Given the description of an element on the screen output the (x, y) to click on. 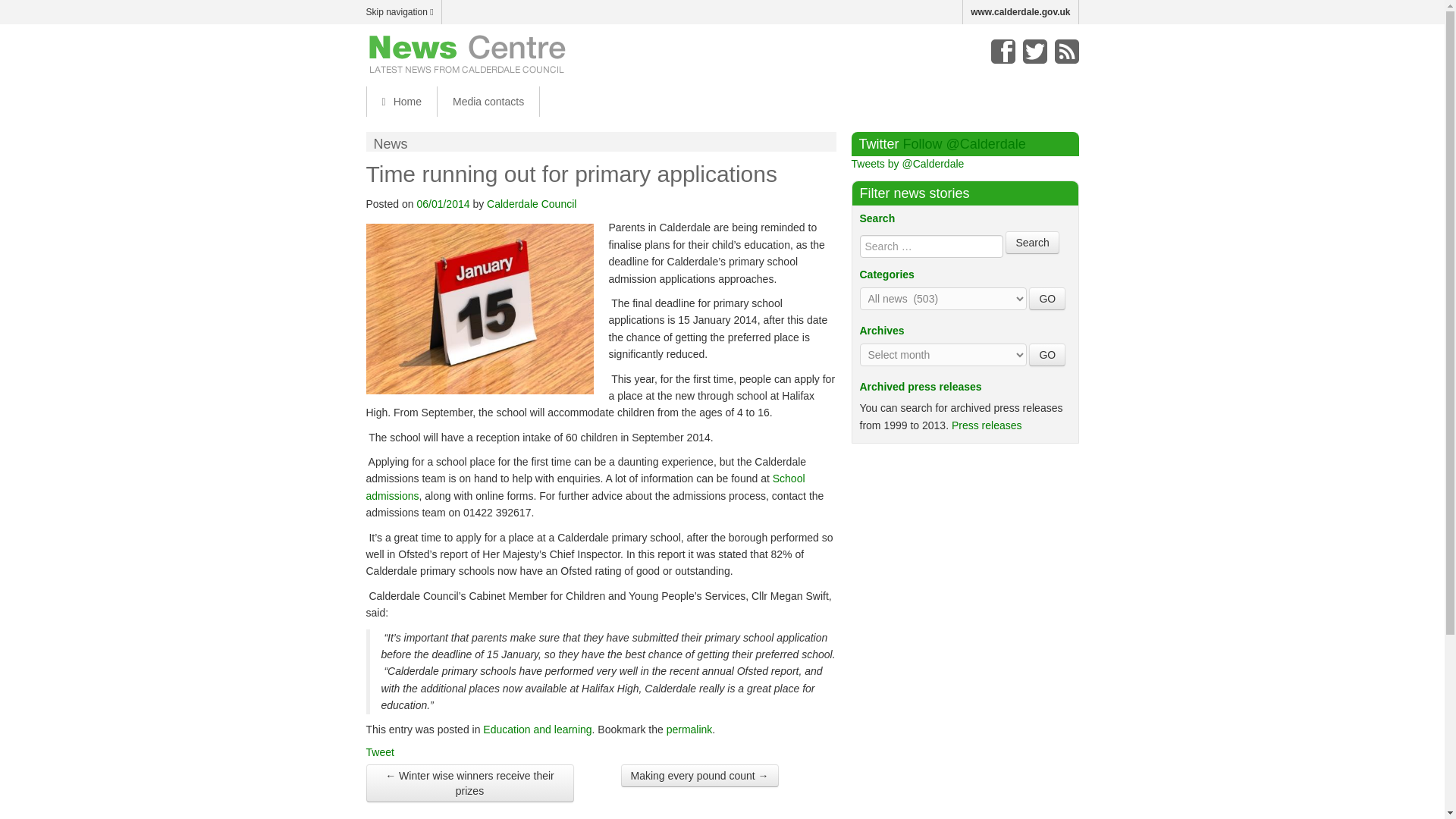
Media contacts (489, 101)
Calderdale Council (531, 203)
RSS (1066, 51)
School admissions (585, 486)
Permalink to Time running out for primary applications (689, 729)
Search (1032, 241)
GO (1047, 354)
GO (1047, 298)
Twitter (1034, 51)
GO (1047, 298)
